Given the description of an element on the screen output the (x, y) to click on. 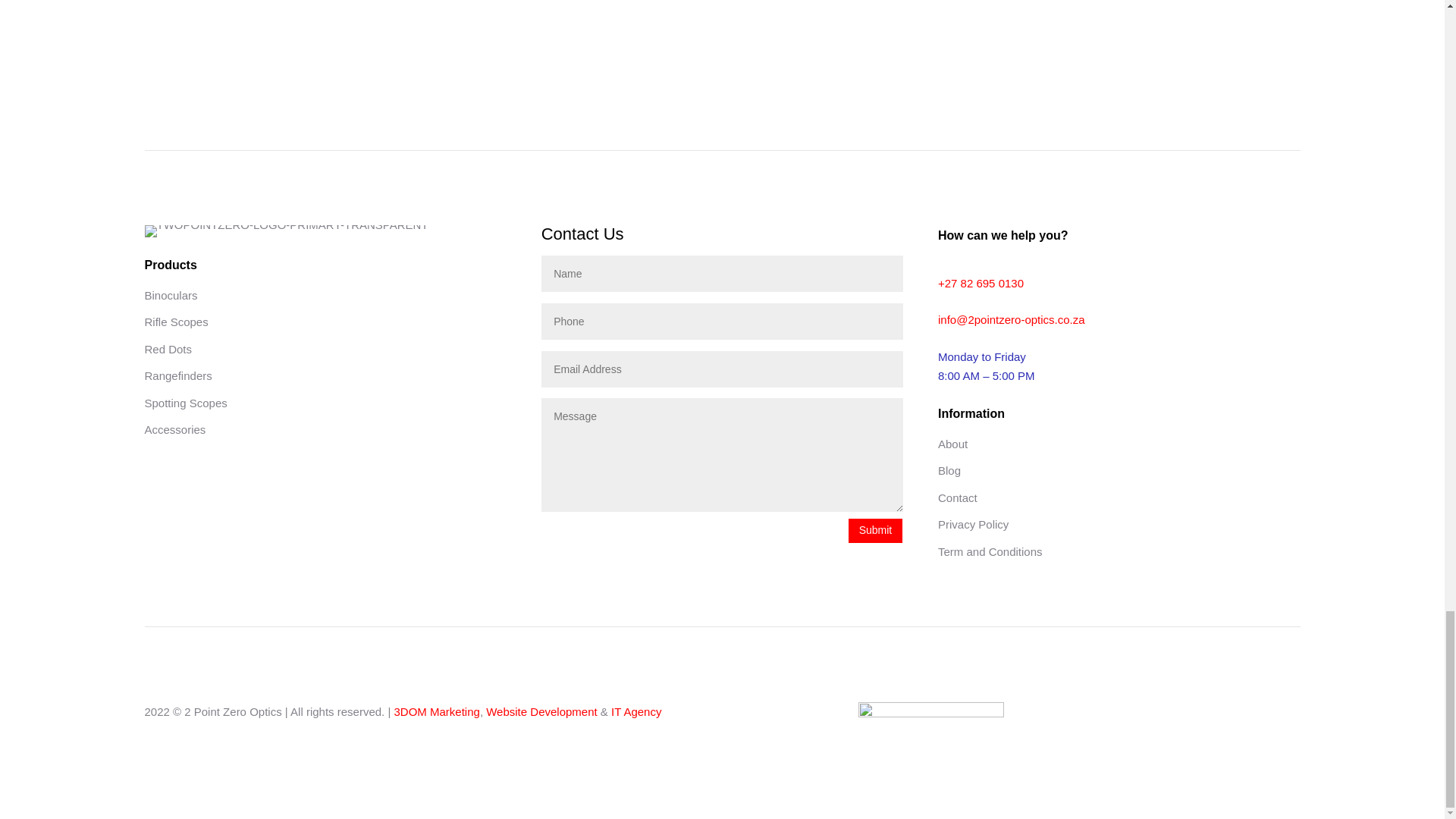
TPZ-Banner-6 (286, 231)
Follow on Youtube (1287, 713)
shape-payment (931, 709)
Only numbers allowed. (721, 321)
Follow on Facebook (1256, 713)
